Given the description of an element on the screen output the (x, y) to click on. 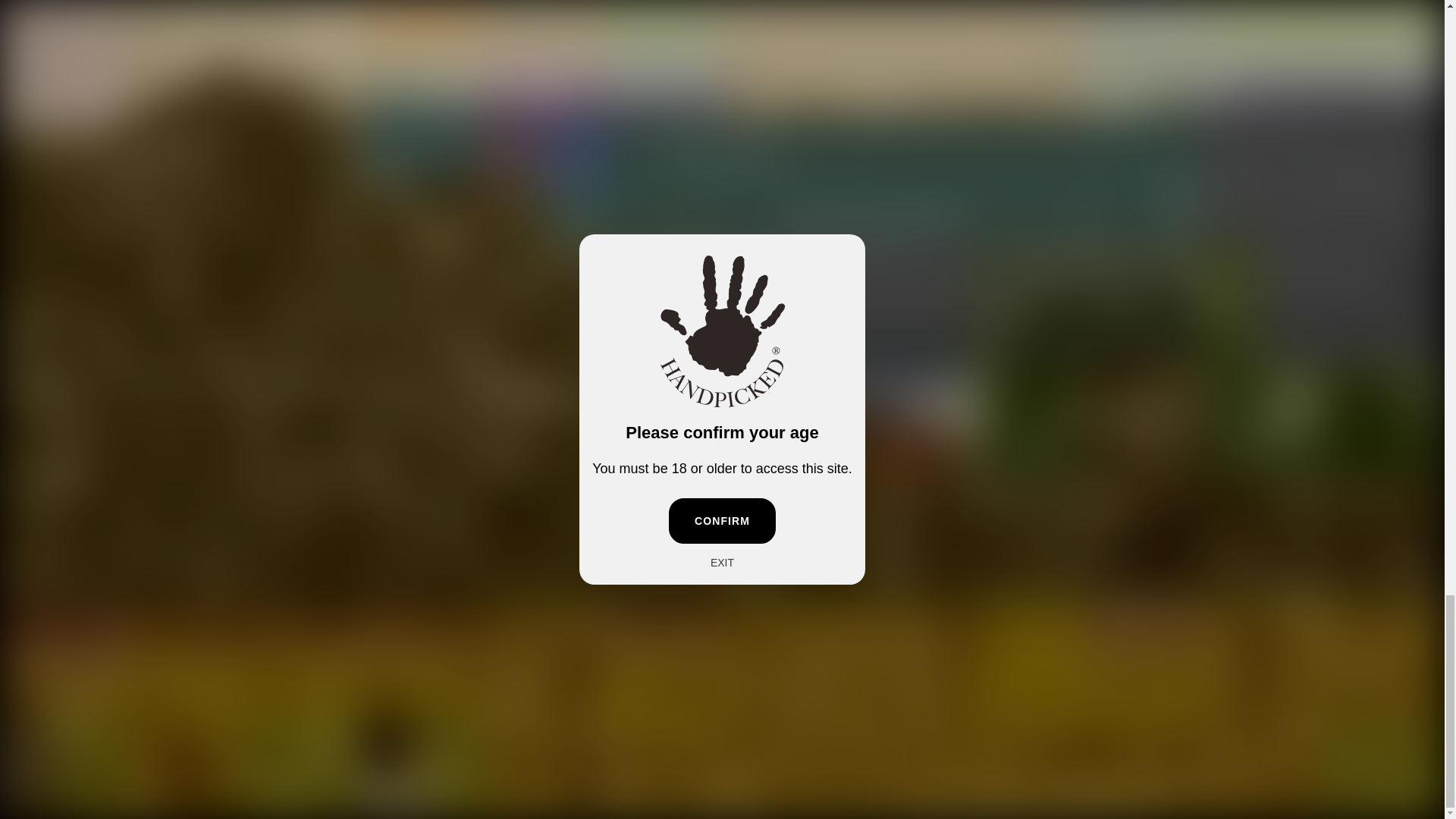
Visa (1388, 727)
American Express (1130, 727)
DrinkWise (140, 690)
Instagram (73, 459)
PayPal (1277, 727)
Union Pay (1352, 727)
Apple Pay (1168, 727)
Google Pay (1204, 727)
Facebook (46, 459)
Mastercard (1241, 727)
Shop Pay (1315, 727)
